Given the description of an element on the screen output the (x, y) to click on. 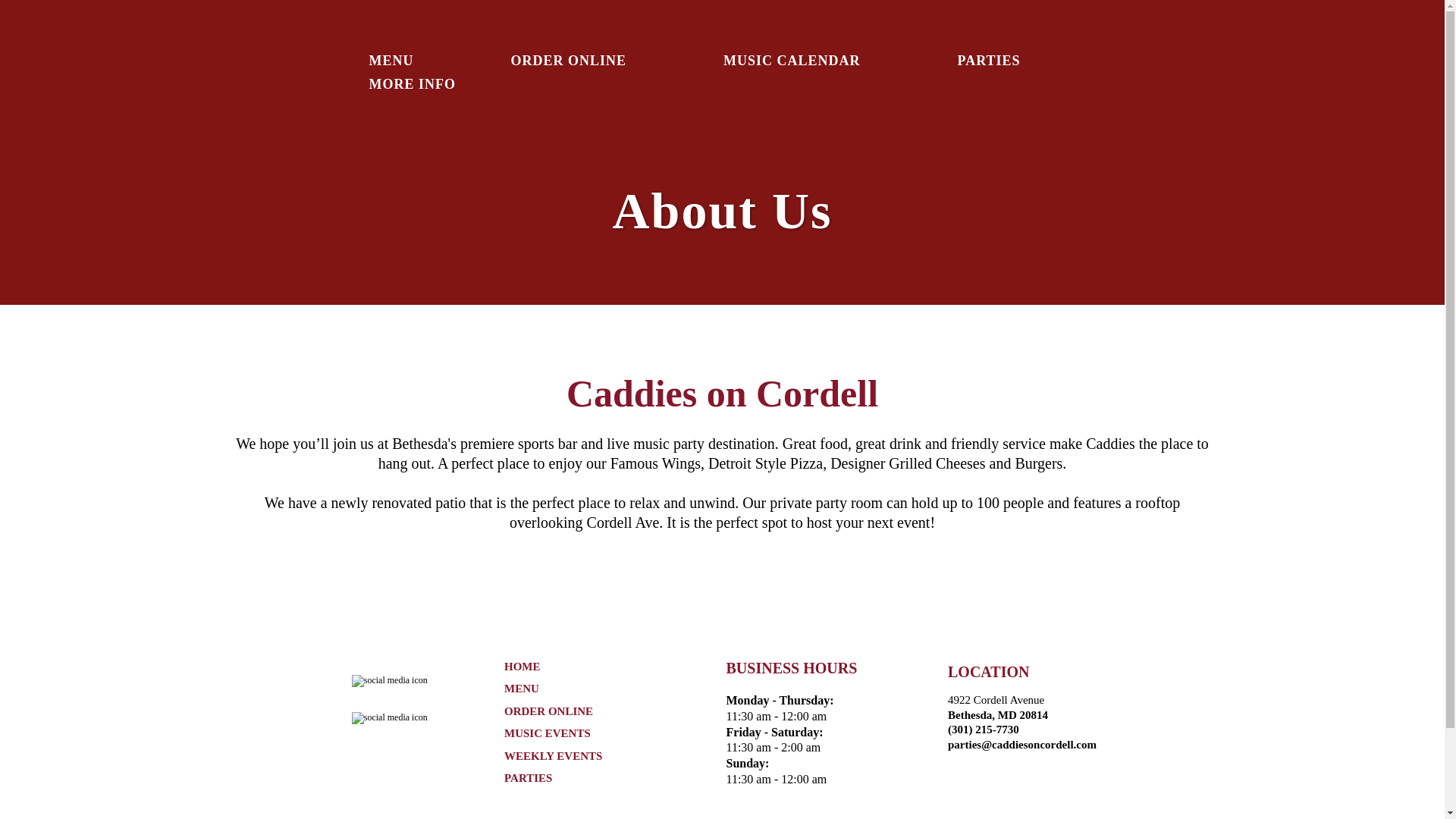
HOME (521, 666)
MORE INFO (411, 84)
PARTIES (988, 60)
MENU (390, 60)
PARTIES (527, 777)
ORDER ONLINE (569, 60)
ORDER ONLINE (547, 711)
MUSIC CALENDAR (791, 60)
WEEKLY EVENTS (552, 756)
MUSIC EVENTS (547, 733)
MENU (520, 688)
